Given the description of an element on the screen output the (x, y) to click on. 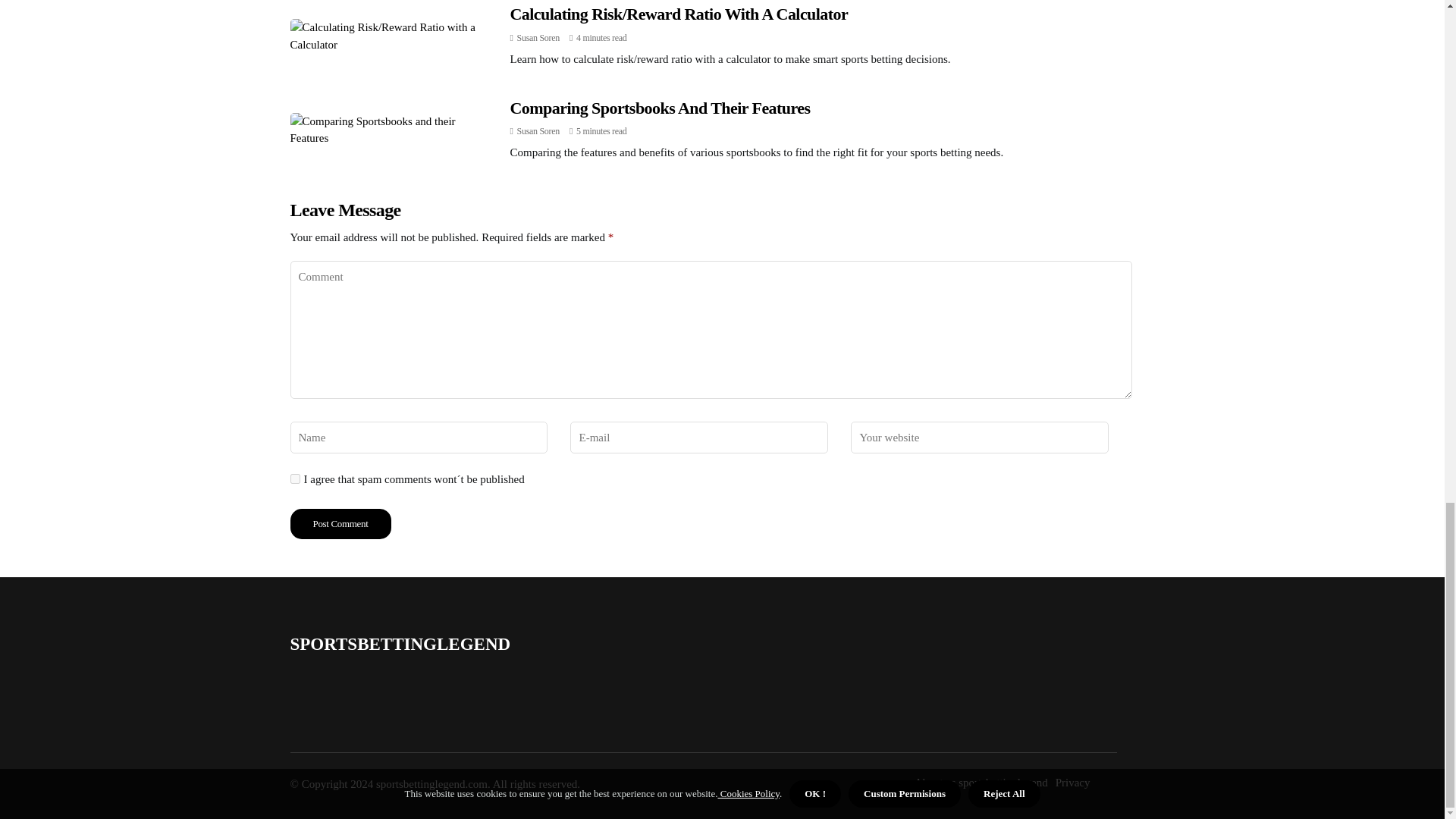
Post Comment (339, 523)
yes (294, 479)
Posts by Susan Soren (537, 131)
Posts by Susan Soren (537, 37)
